Given the description of an element on the screen output the (x, y) to click on. 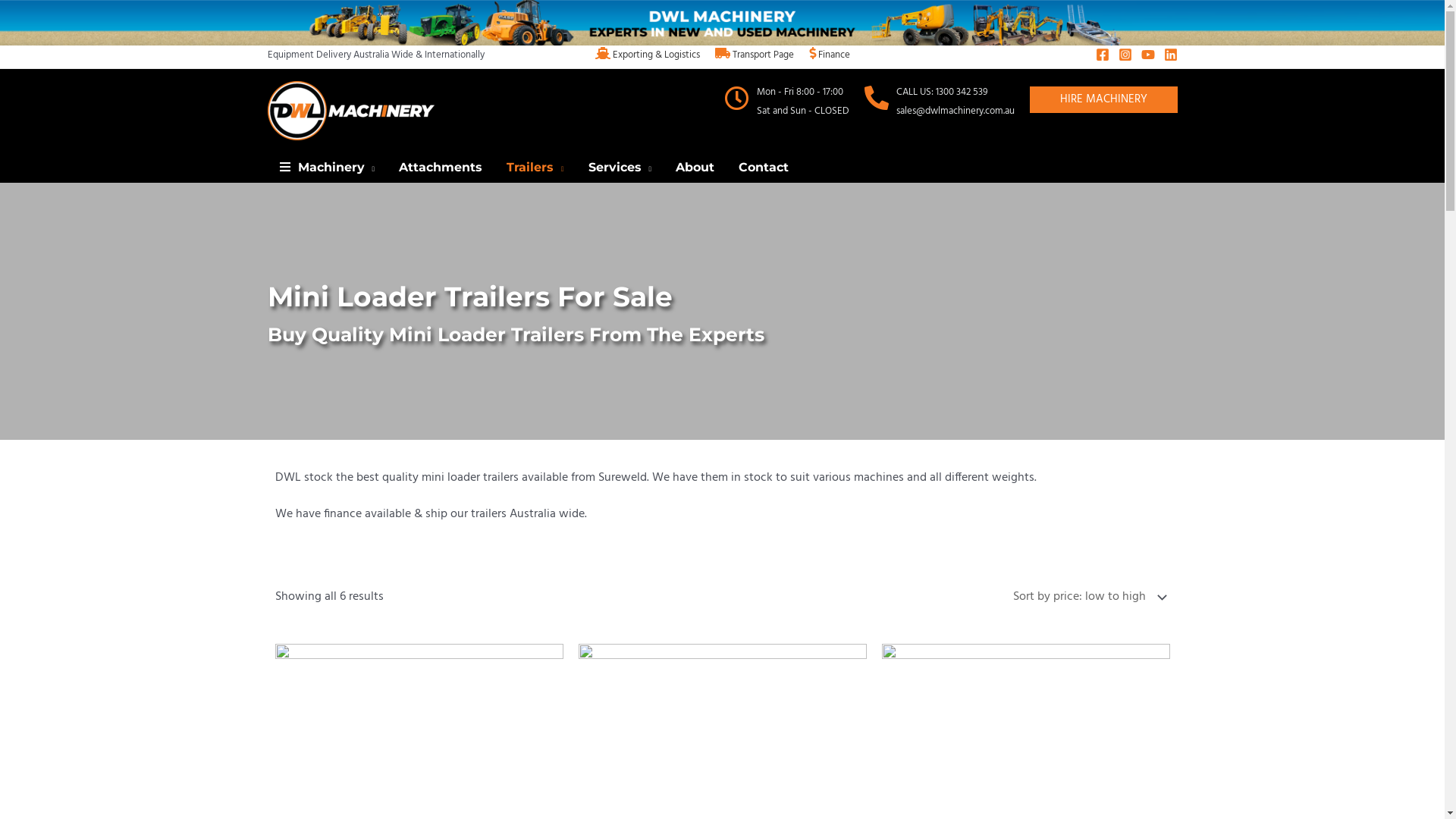
Exporting & Logistics Element type: text (646, 54)
About Element type: text (694, 167)
Services Element type: text (620, 167)
Finance Element type: text (828, 54)
Contact Element type: text (763, 167)
Transport Page Element type: text (753, 54)
Trailers Element type: text (535, 167)
sales@dwlmachinery.com.au Element type: text (955, 111)
Attachments Element type: text (440, 167)
HIRE MACHINERY Element type: text (1103, 99)
Machinery Element type: text (326, 167)
1300 342 539 Element type: text (961, 92)
